Given the description of an element on the screen output the (x, y) to click on. 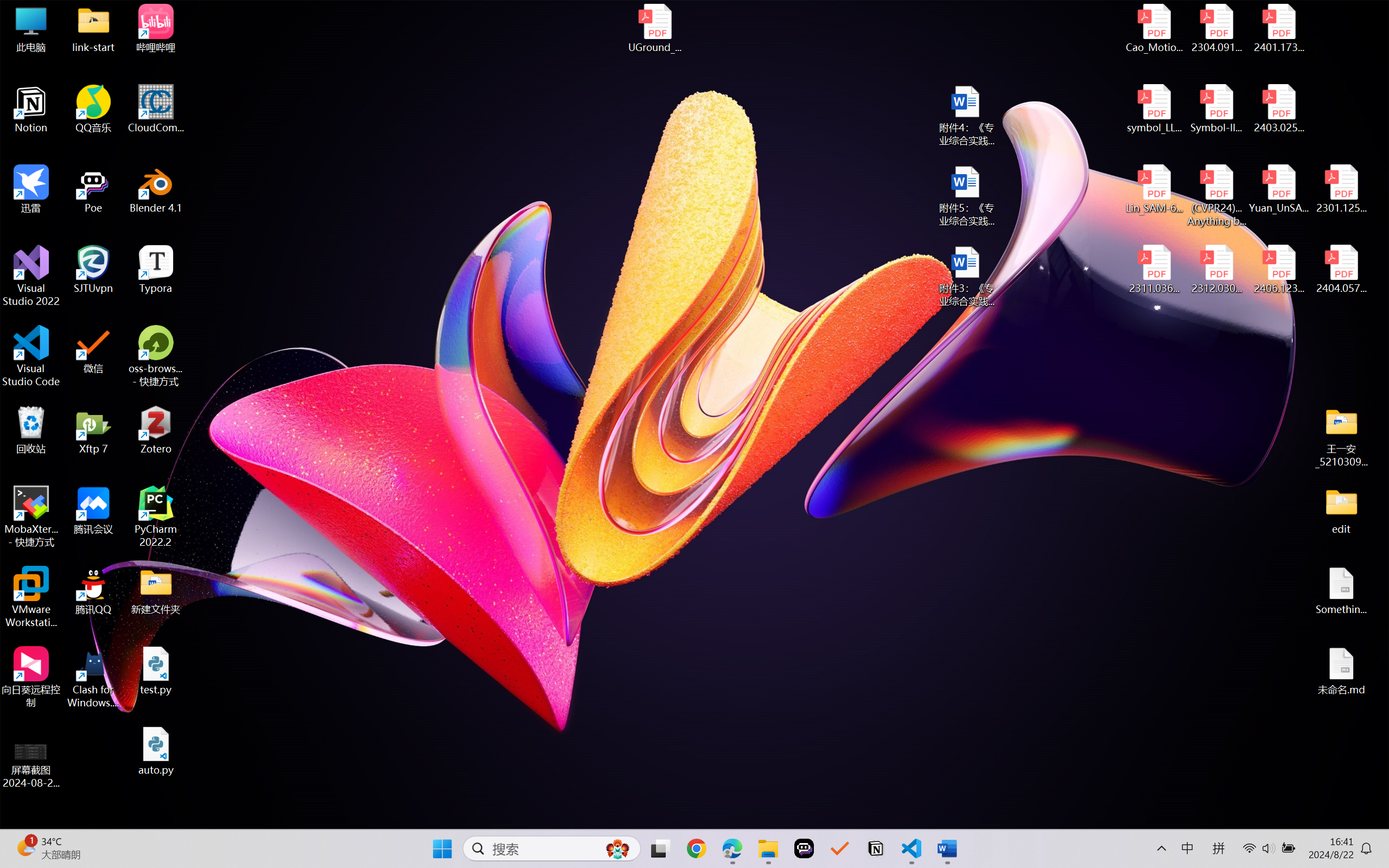
2401.17399v1.pdf (1278, 28)
Visual Studio 2022 (31, 276)
edit (1340, 510)
2312.03032v2.pdf (1216, 269)
auto.py (156, 751)
VMware Workstation Pro (31, 597)
2311.03658v2.pdf (1154, 269)
